Given the description of an element on the screen output the (x, y) to click on. 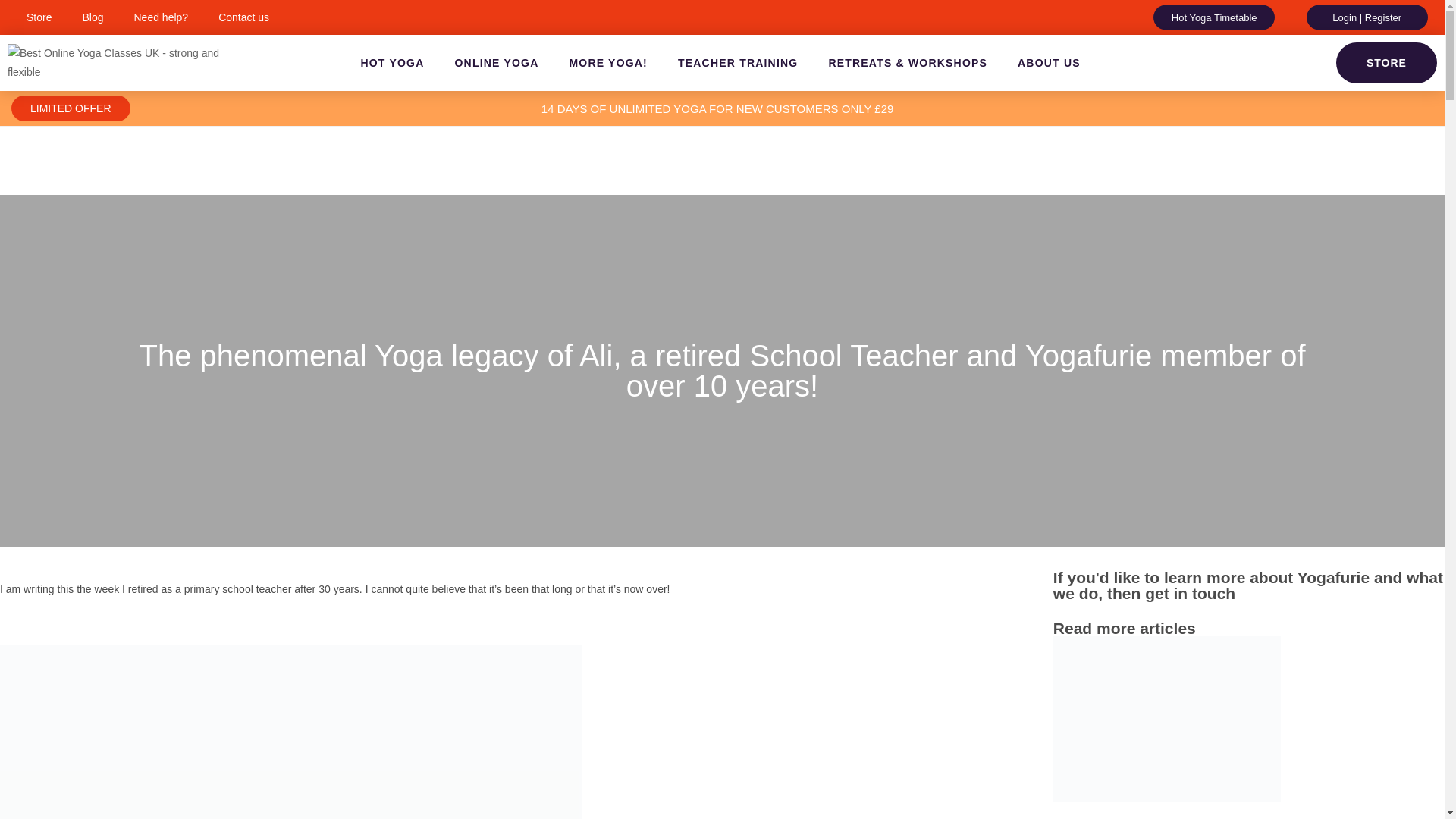
Contact us (243, 17)
HOT YOGA (392, 62)
Store (38, 17)
logo-largestrapline-transparent (115, 62)
Blog (91, 17)
Hot Yoga Timetable (1214, 16)
Need help? (160, 17)
TEACHER TRAINING (737, 62)
MORE YOGA! (607, 62)
ONLINE YOGA (496, 62)
